Given the description of an element on the screen output the (x, y) to click on. 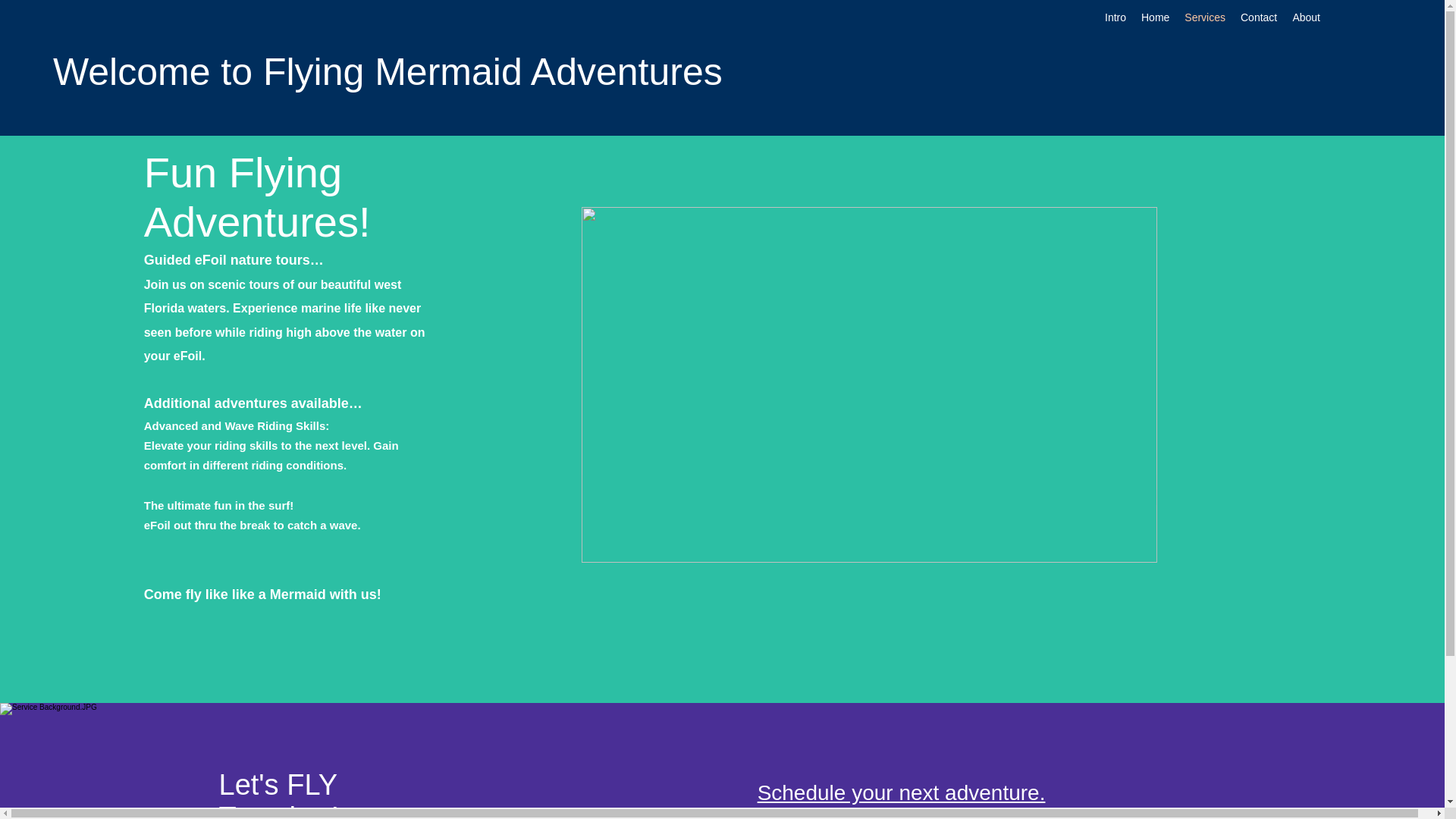
Services (1204, 16)
About (1305, 16)
Schedule your next adventure. (901, 792)
Contact (1258, 16)
Intro (1115, 16)
Home (1155, 16)
